Given the description of an element on the screen output the (x, y) to click on. 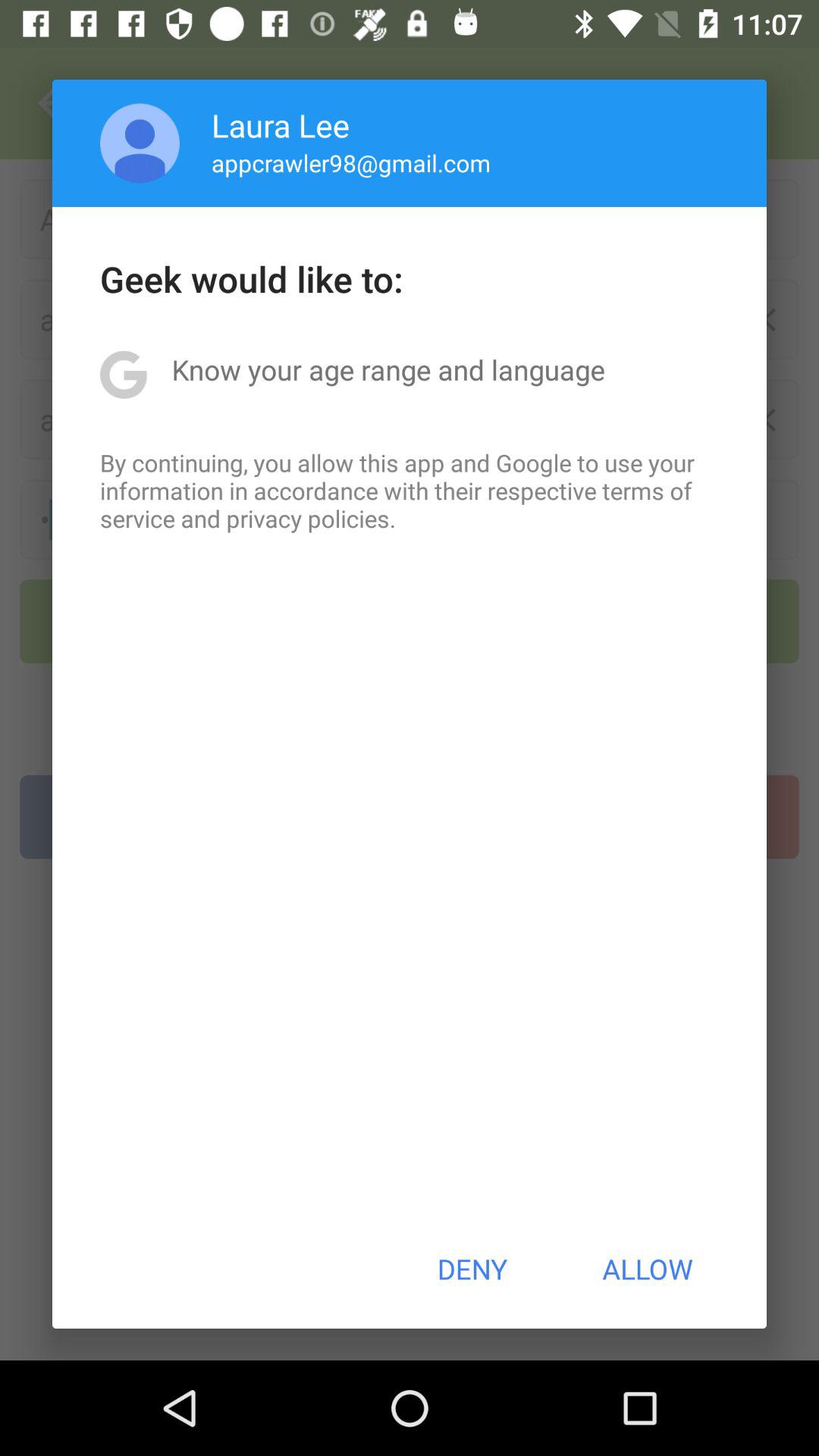
swipe to the appcrawler98@gmail.com item (350, 162)
